Given the description of an element on the screen output the (x, y) to click on. 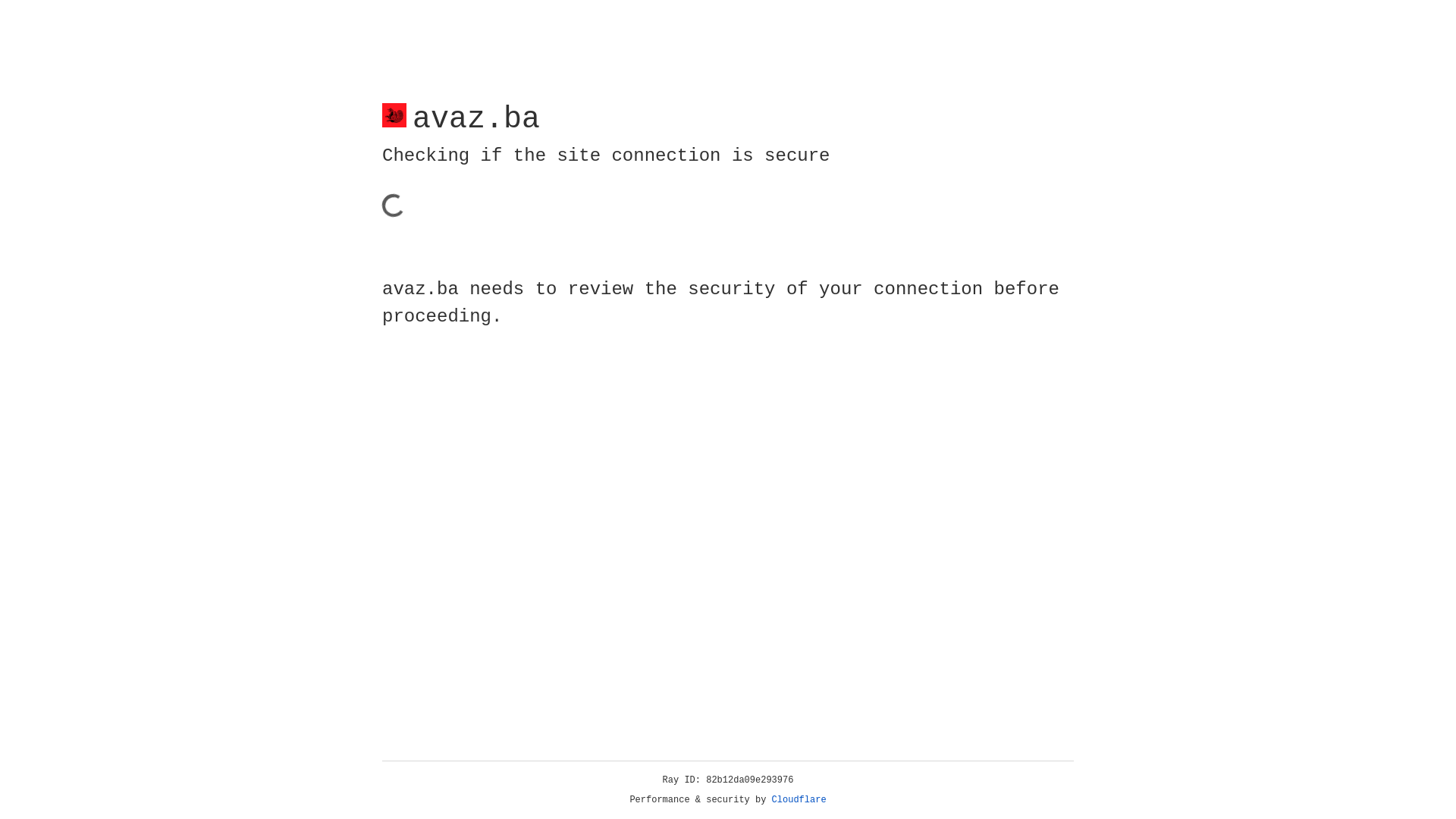
Cloudflare Element type: text (798, 799)
